Given the description of an element on the screen output the (x, y) to click on. 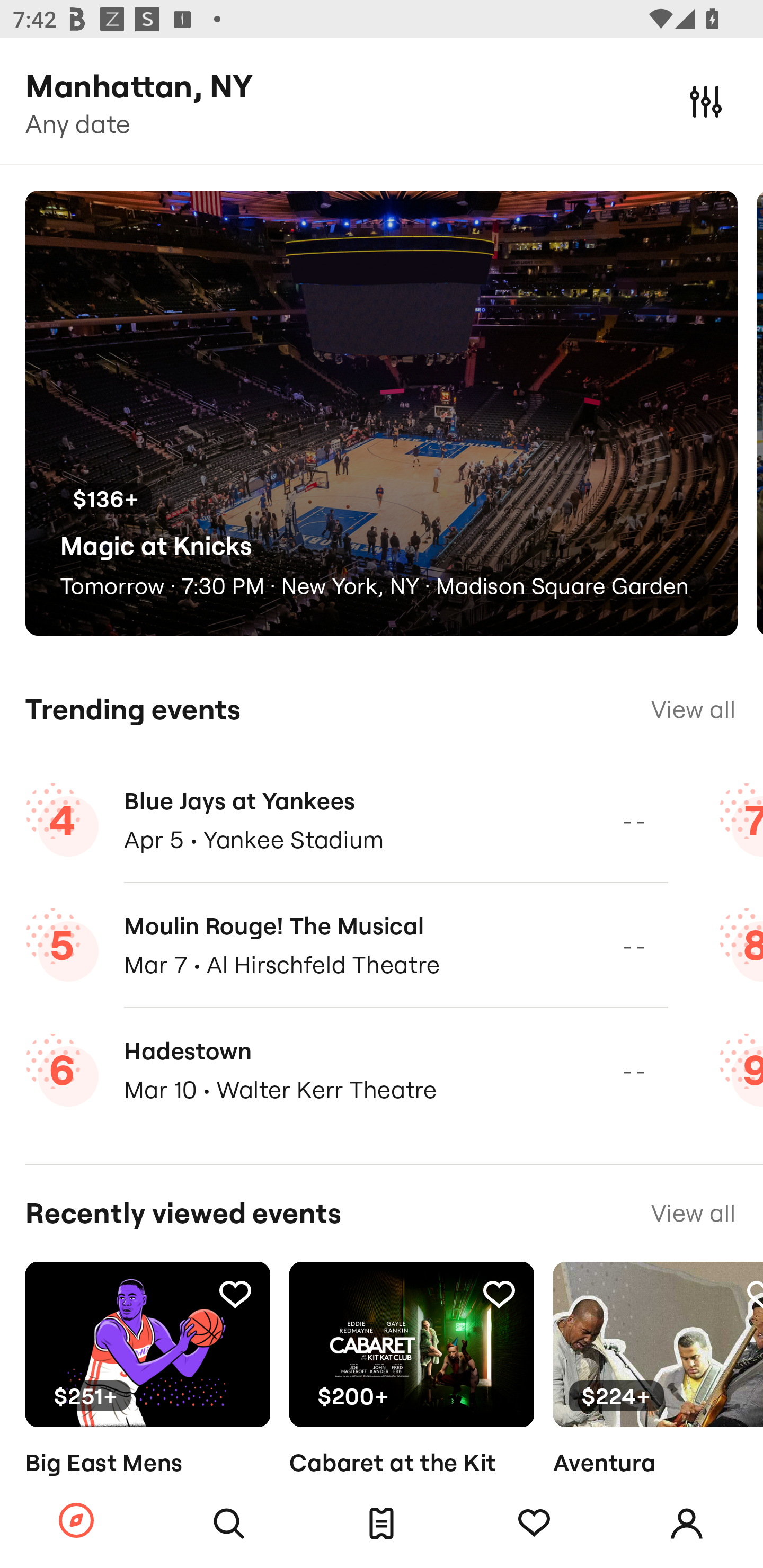
Filters (705, 100)
View all (693, 709)
View all (693, 1213)
Tracking $224+ Aventura Thu, May 30, 8 PM (658, 1399)
Tracking (234, 1293)
Tracking (498, 1293)
Browse (76, 1521)
Search (228, 1523)
Tickets (381, 1523)
Tracking (533, 1523)
Account (686, 1523)
